Given the description of an element on the screen output the (x, y) to click on. 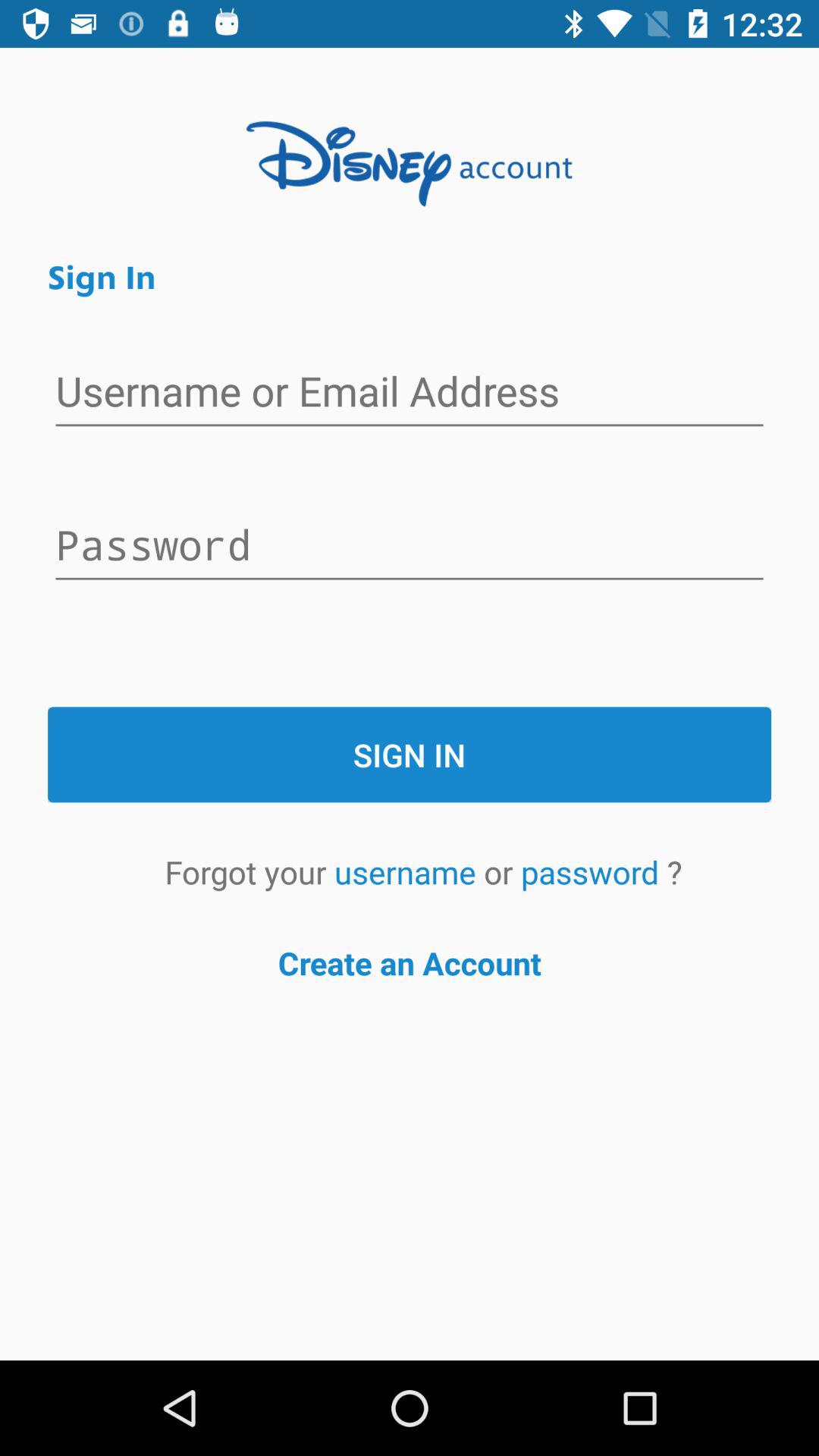
username sign-in entry field (409, 393)
